Given the description of an element on the screen output the (x, y) to click on. 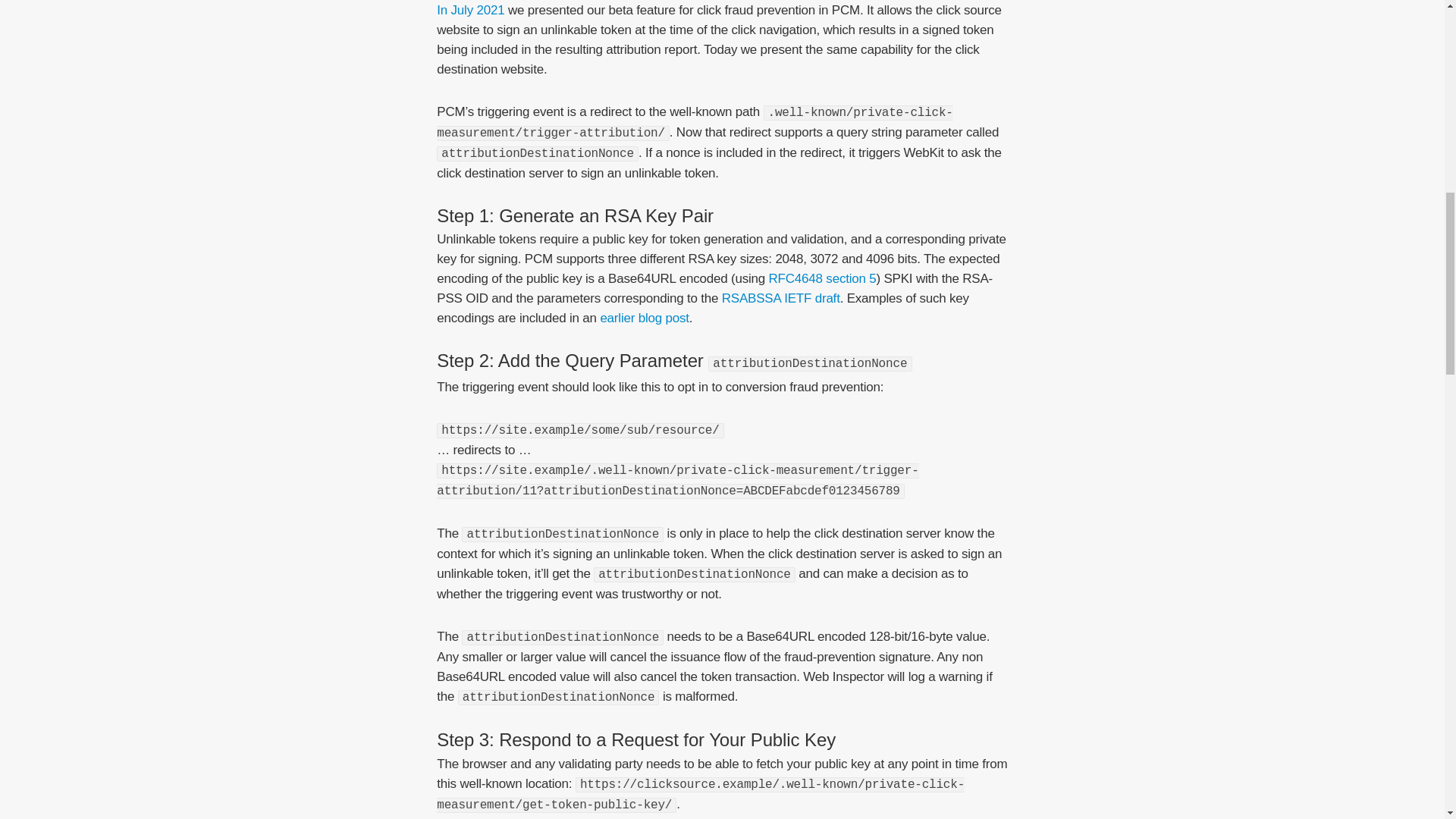
In July 2021 (469, 10)
RSABSSA IETF draft (781, 298)
RFC4648 section 5 (822, 278)
